Given the description of an element on the screen output the (x, y) to click on. 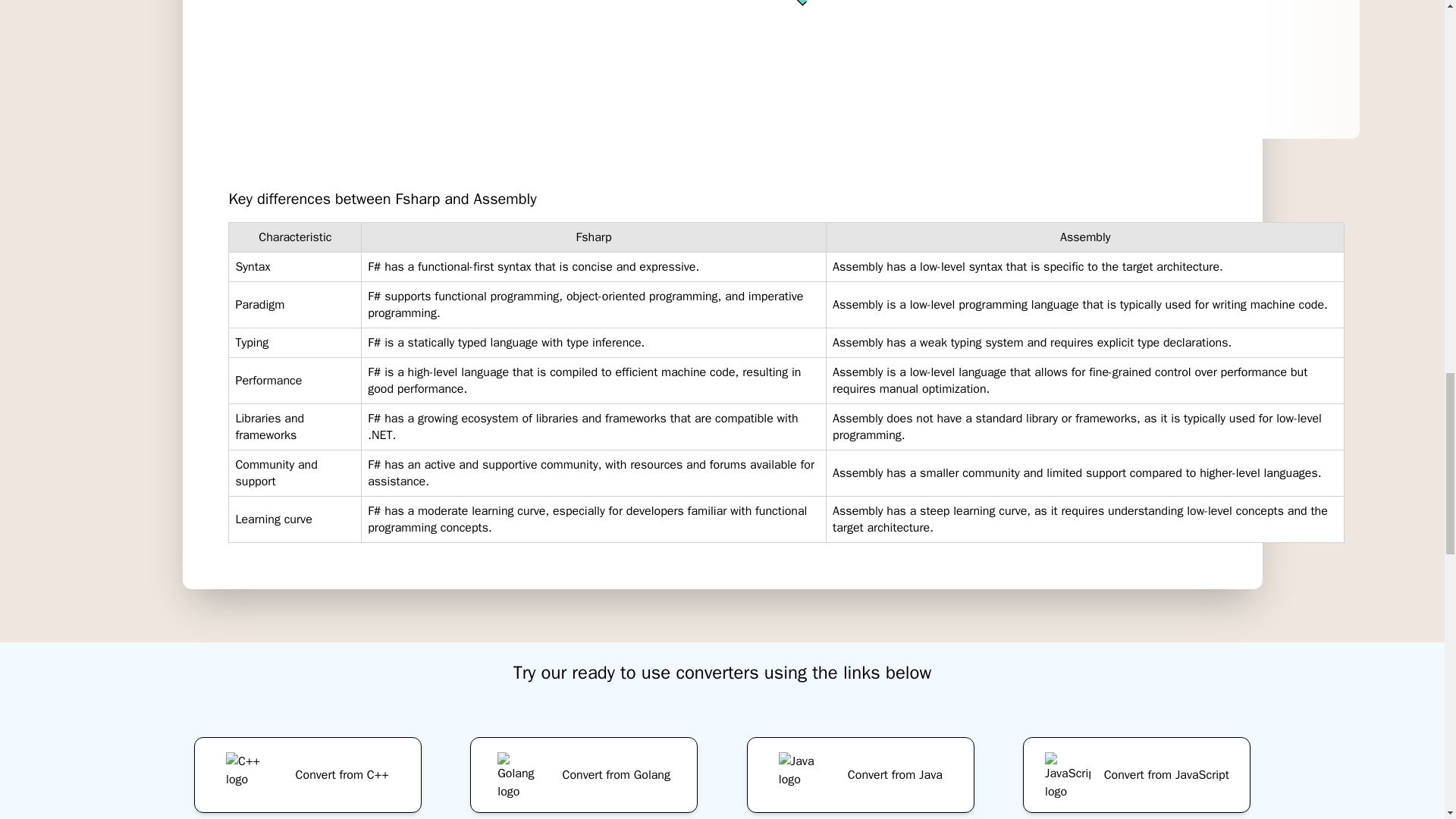
Convert from JavaScript (1136, 772)
Convert from Java (860, 772)
Convert from Golang (583, 772)
